Given the description of an element on the screen output the (x, y) to click on. 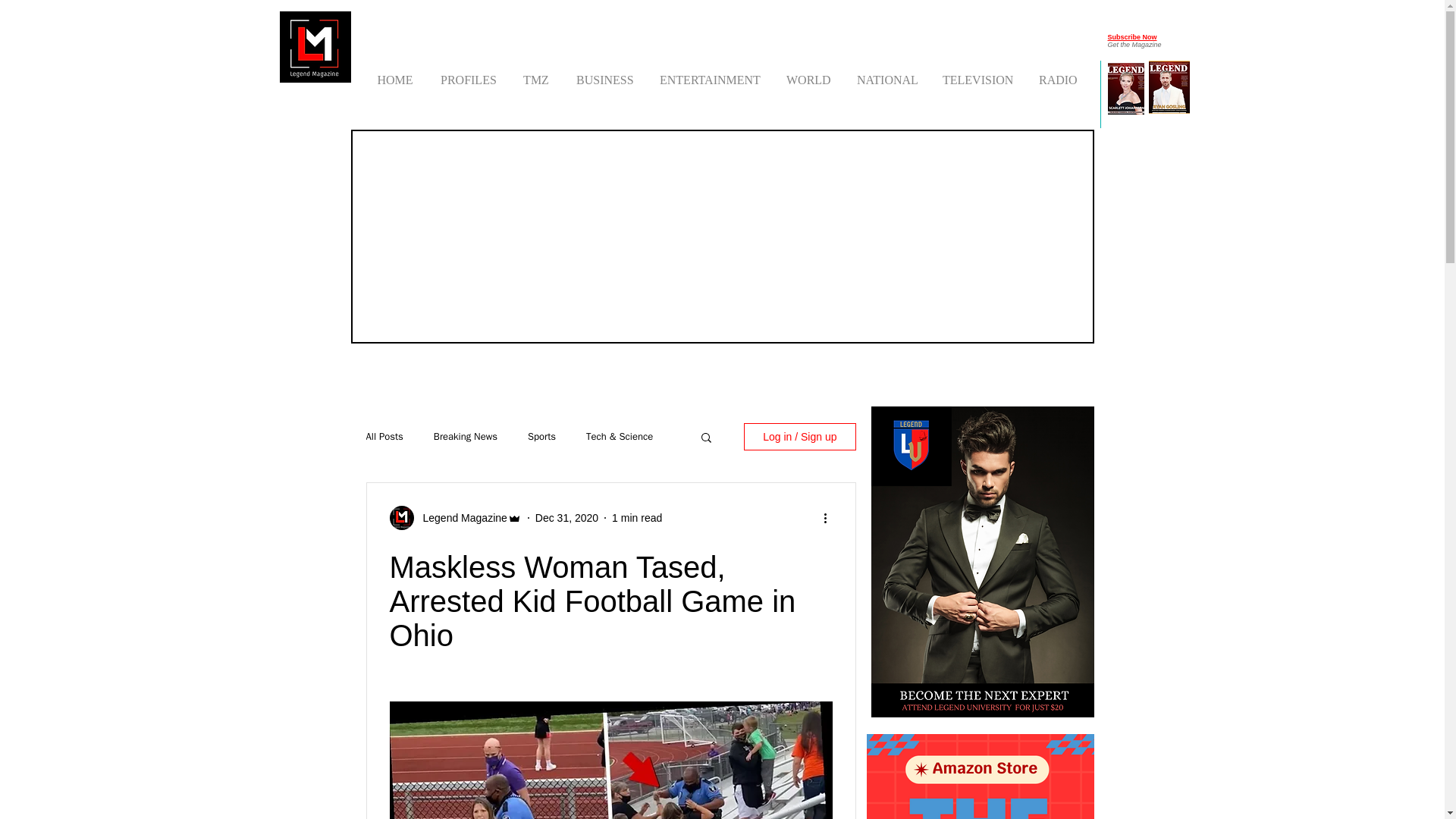
1 min read (636, 517)
Sports (541, 436)
TELEVISION (976, 73)
TMZ (535, 73)
All Posts (384, 436)
Get the Magazine (1133, 44)
NATIONAL (885, 73)
HOME (394, 73)
ENTERTAINMENT (709, 73)
Dec 31, 2020 (566, 517)
